Given the description of an element on the screen output the (x, y) to click on. 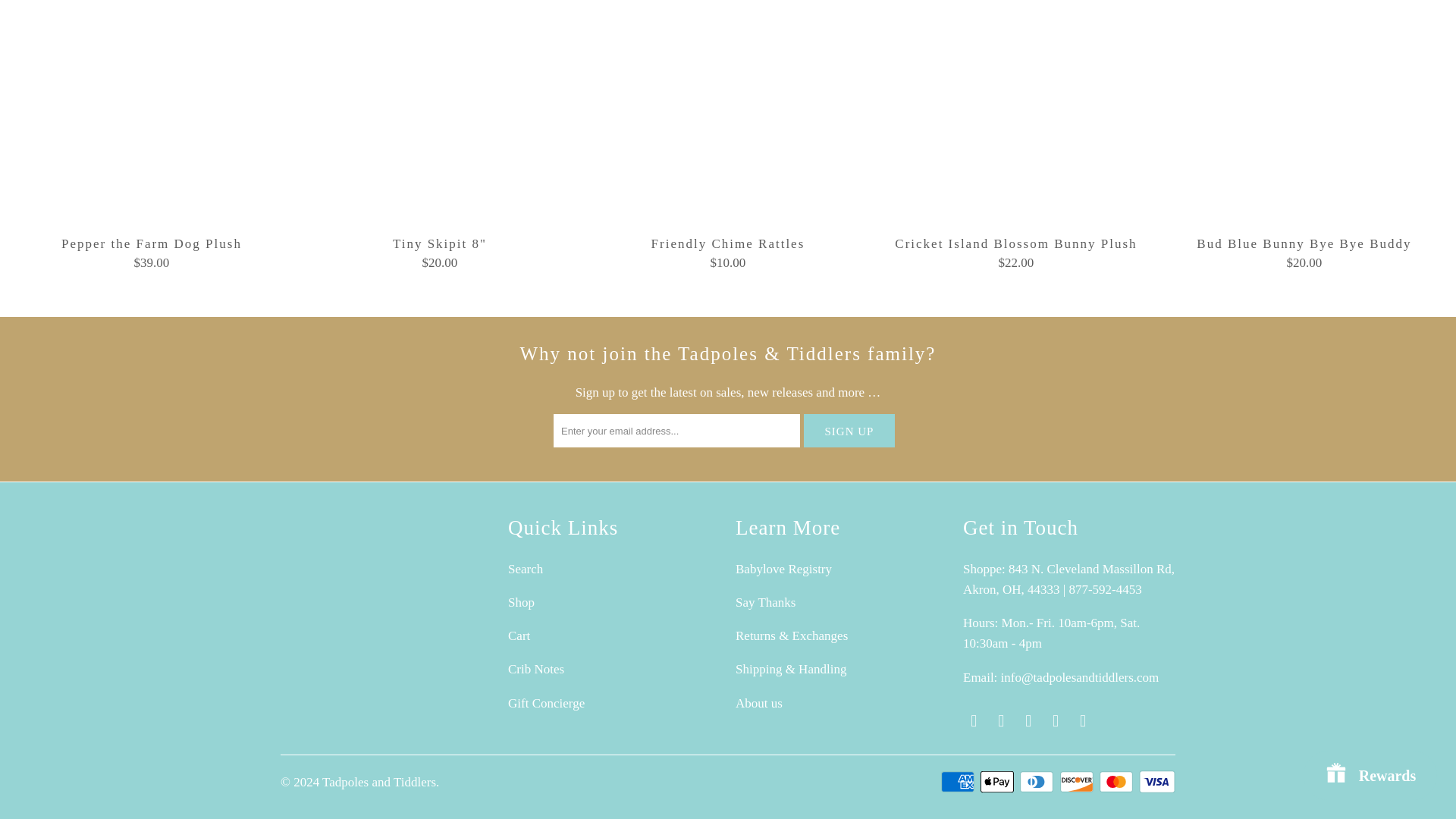
Apple Pay (997, 781)
Mastercard (1117, 781)
Visa (1156, 781)
Sign Up (849, 430)
American Express (958, 781)
Diners Club (1038, 781)
Discover (1077, 781)
